Given the description of an element on the screen output the (x, y) to click on. 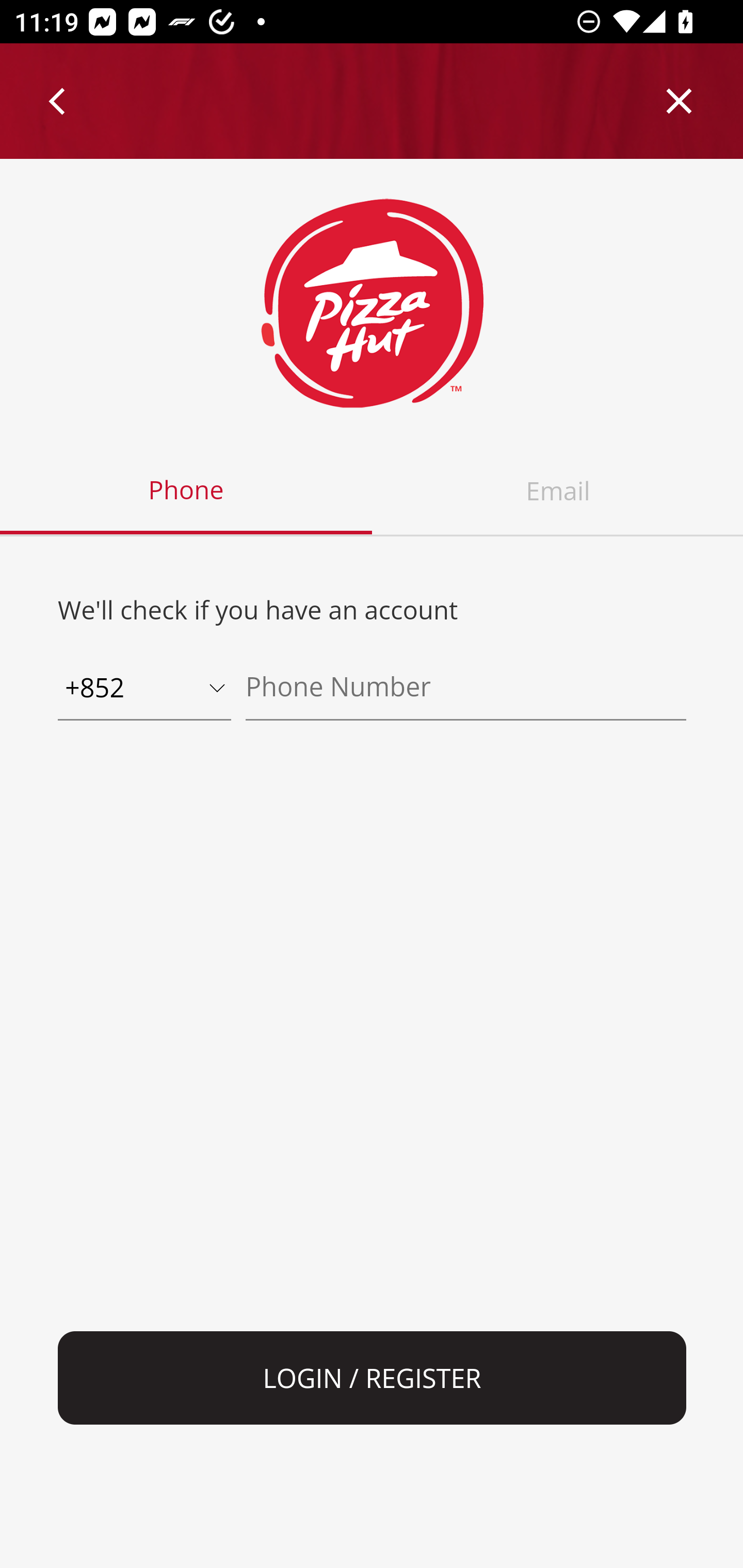
menu (58, 100)
close (679, 100)
Phone (186, 491)
Email (557, 491)
+852 (144, 688)
LOGIN / REGISTER (372, 1377)
